Given the description of an element on the screen output the (x, y) to click on. 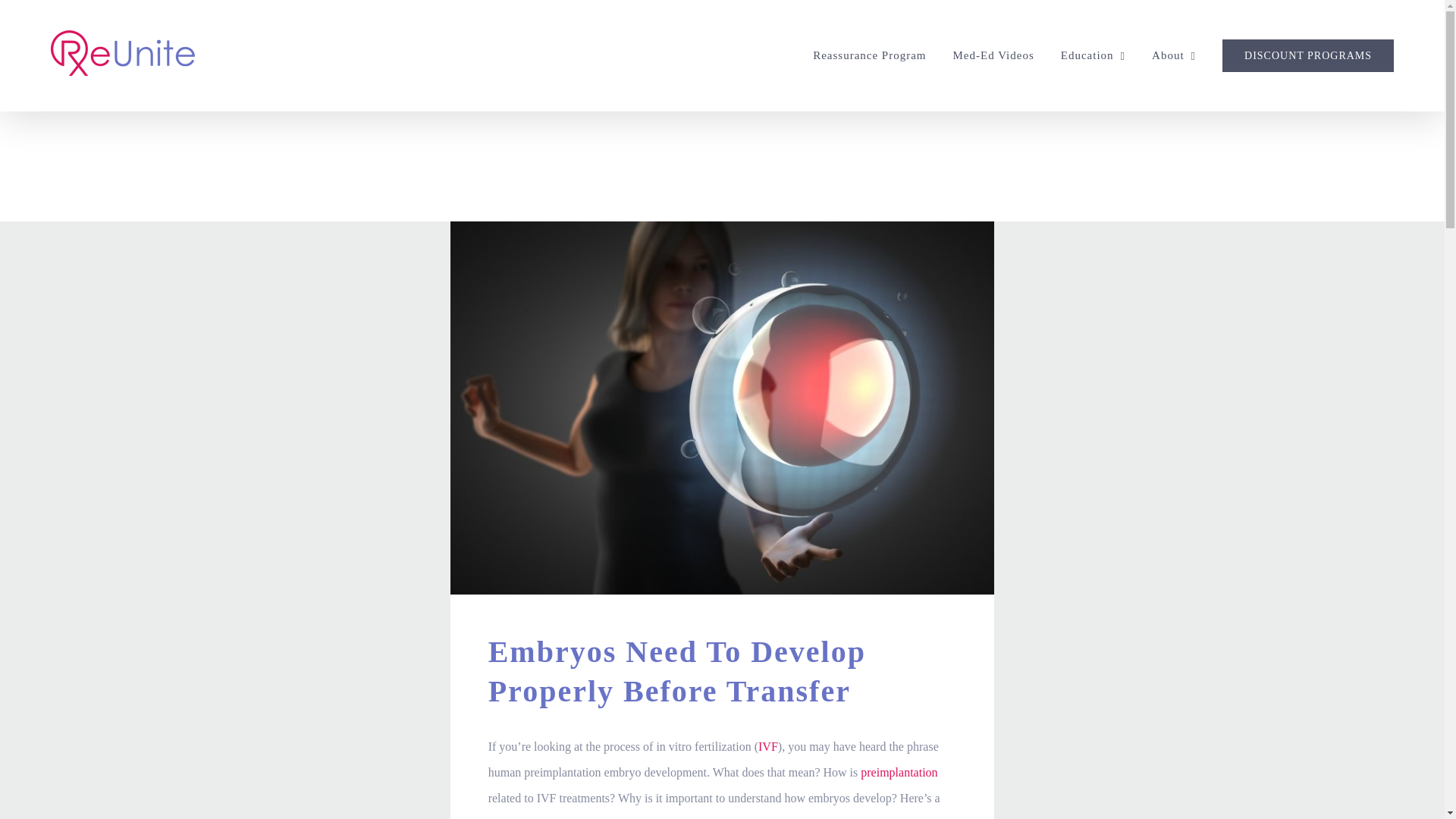
preimplantation (898, 771)
Reassurance Program (869, 55)
DISCOUNT PROGRAMS (1308, 55)
IVF (767, 746)
